Given the description of an element on the screen output the (x, y) to click on. 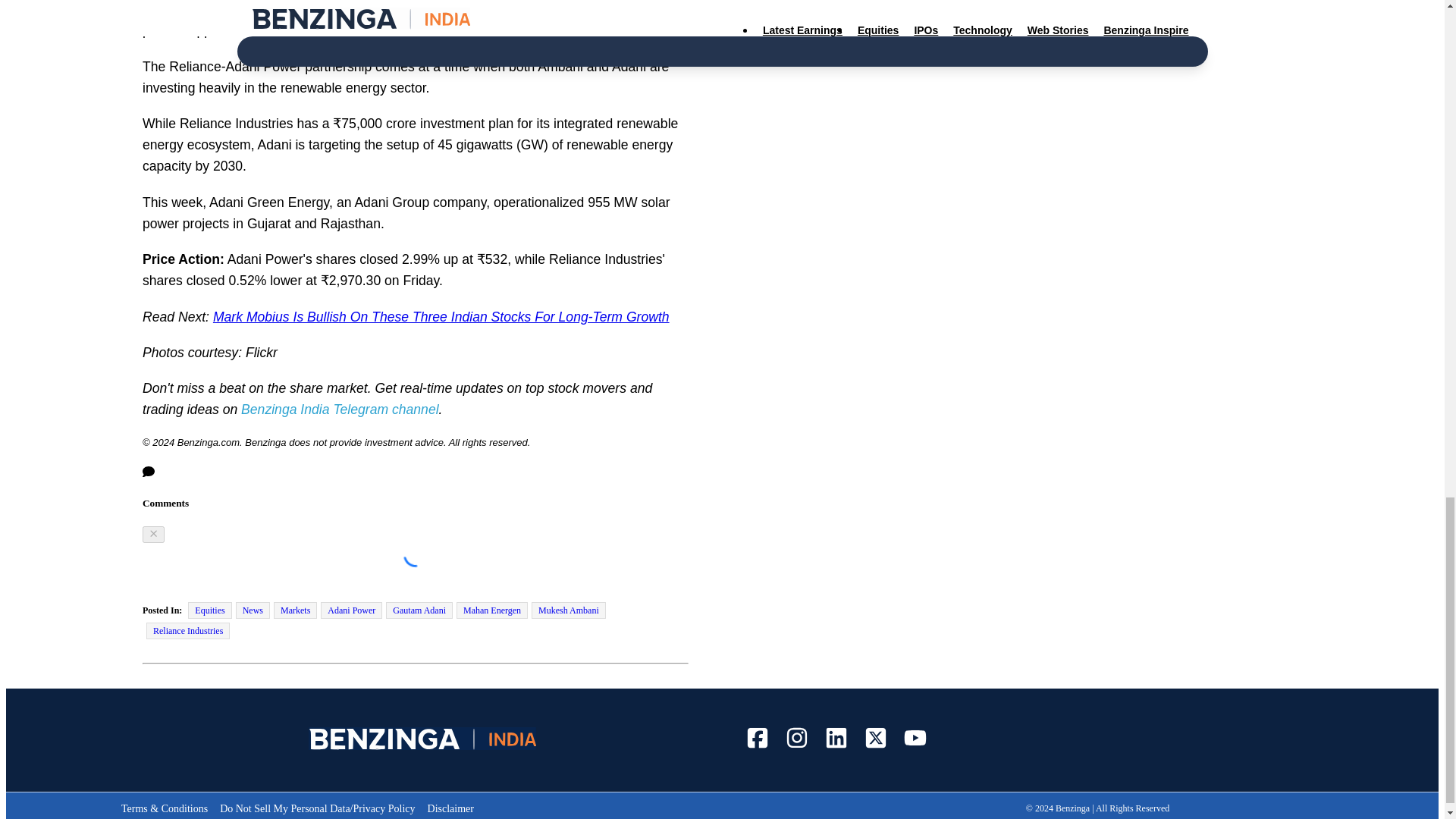
Markets (295, 610)
Mahan Energen (492, 610)
Reliance Industries (188, 630)
Benzinga India Telegram channel (340, 409)
Mukesh Ambani (568, 610)
Close menu (153, 534)
News (252, 610)
Disclaimer (451, 808)
Adani Power (350, 610)
